Given the description of an element on the screen output the (x, y) to click on. 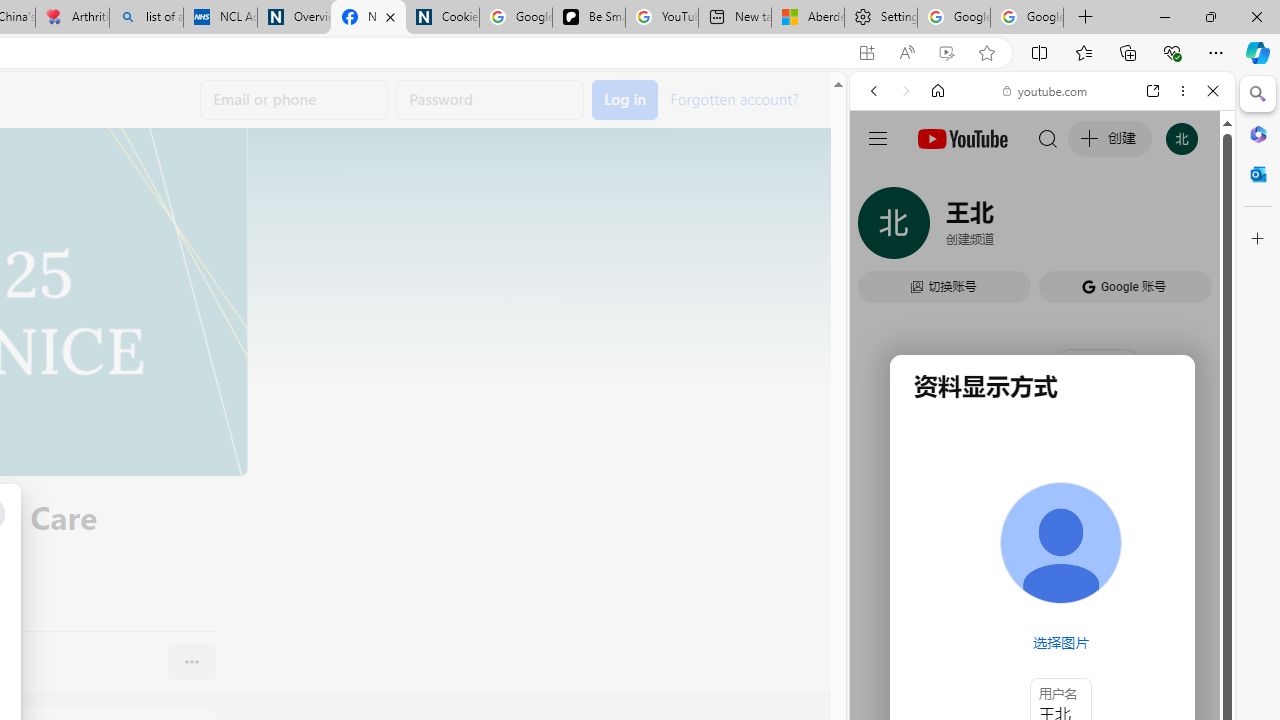
Close Customize pane (1258, 239)
Preferences (1189, 228)
YouTube (1034, 296)
App available. Install Facebook (867, 53)
Accessible login button (625, 99)
Search Filter, IMAGES (939, 228)
